Given the description of an element on the screen output the (x, y) to click on. 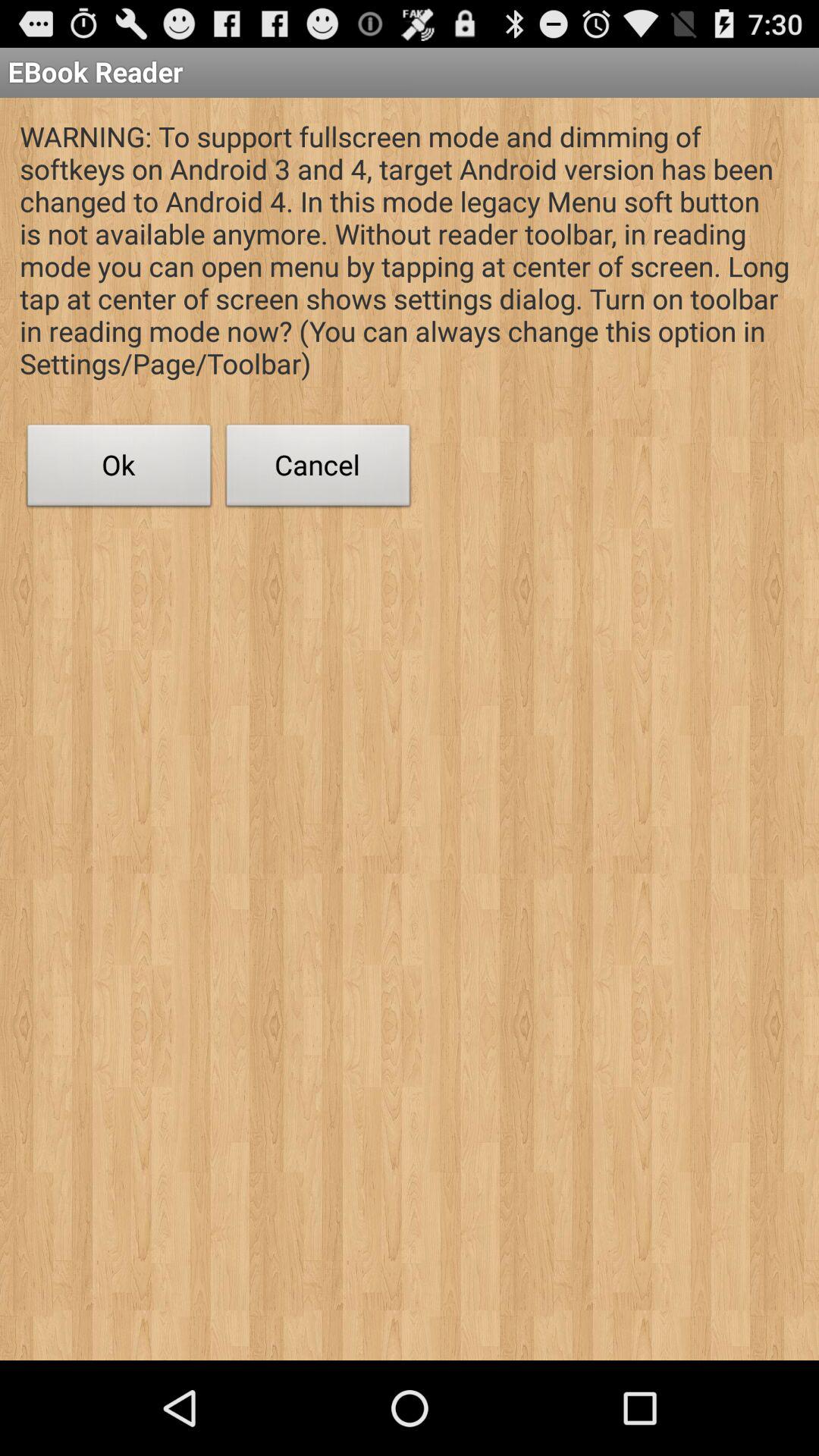
open the button next to cancel icon (118, 469)
